Given the description of an element on the screen output the (x, y) to click on. 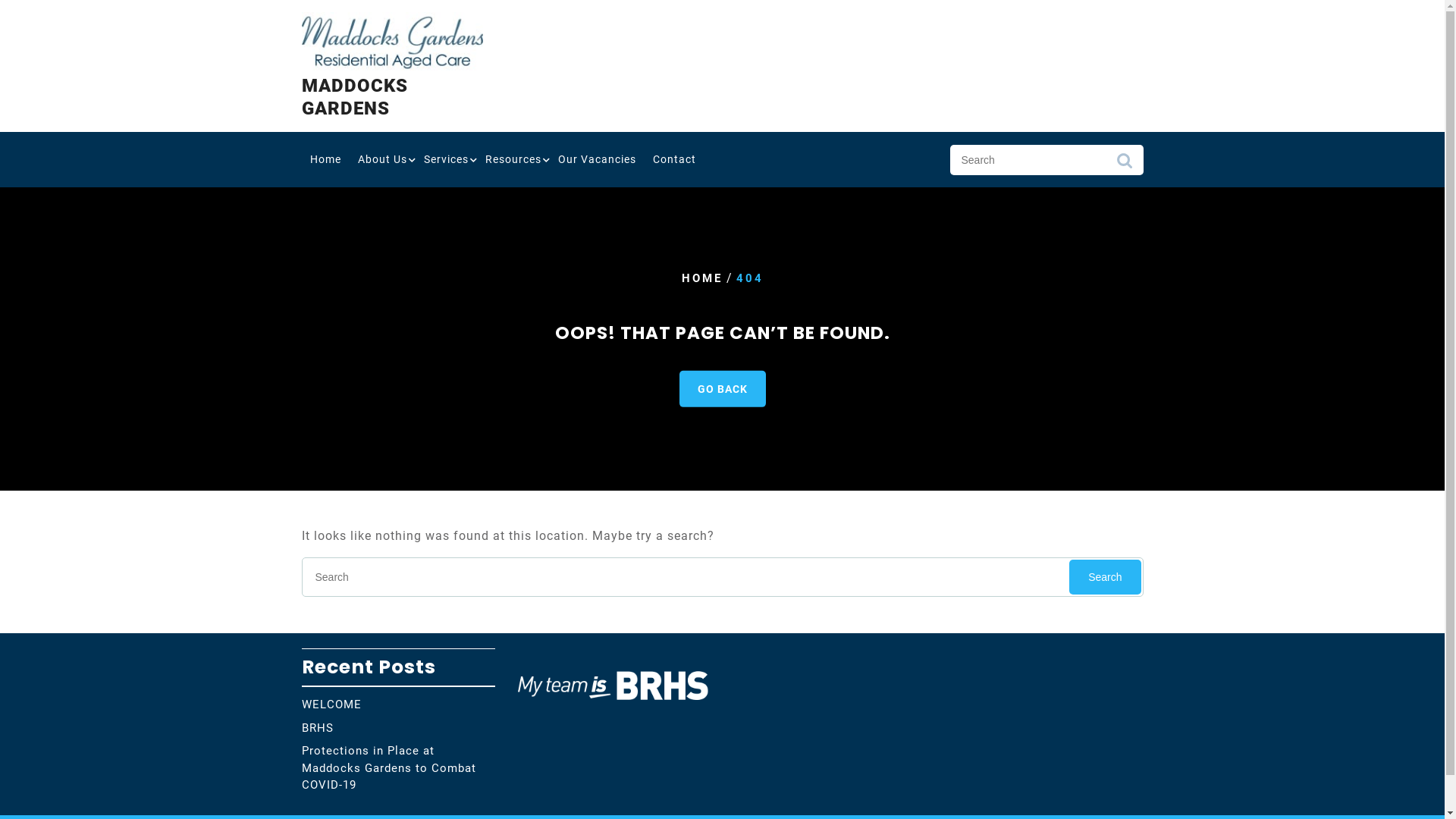
Services Element type: text (445, 159)
About Us Element type: text (381, 159)
Search Element type: text (1123, 164)
HOME Element type: text (700, 278)
Contact Element type: text (674, 159)
Our Vacancies Element type: text (596, 159)
Home Element type: text (325, 159)
WELCOME Element type: text (331, 704)
Resources Element type: text (512, 159)
MADDOCKS GARDENS Element type: text (354, 97)
Protections in Place at Maddocks Gardens to Combat COVID-19 Element type: text (388, 767)
BRHS Element type: text (317, 727)
GO BACK Element type: text (722, 388)
Search Element type: text (1104, 576)
